Given the description of an element on the screen output the (x, y) to click on. 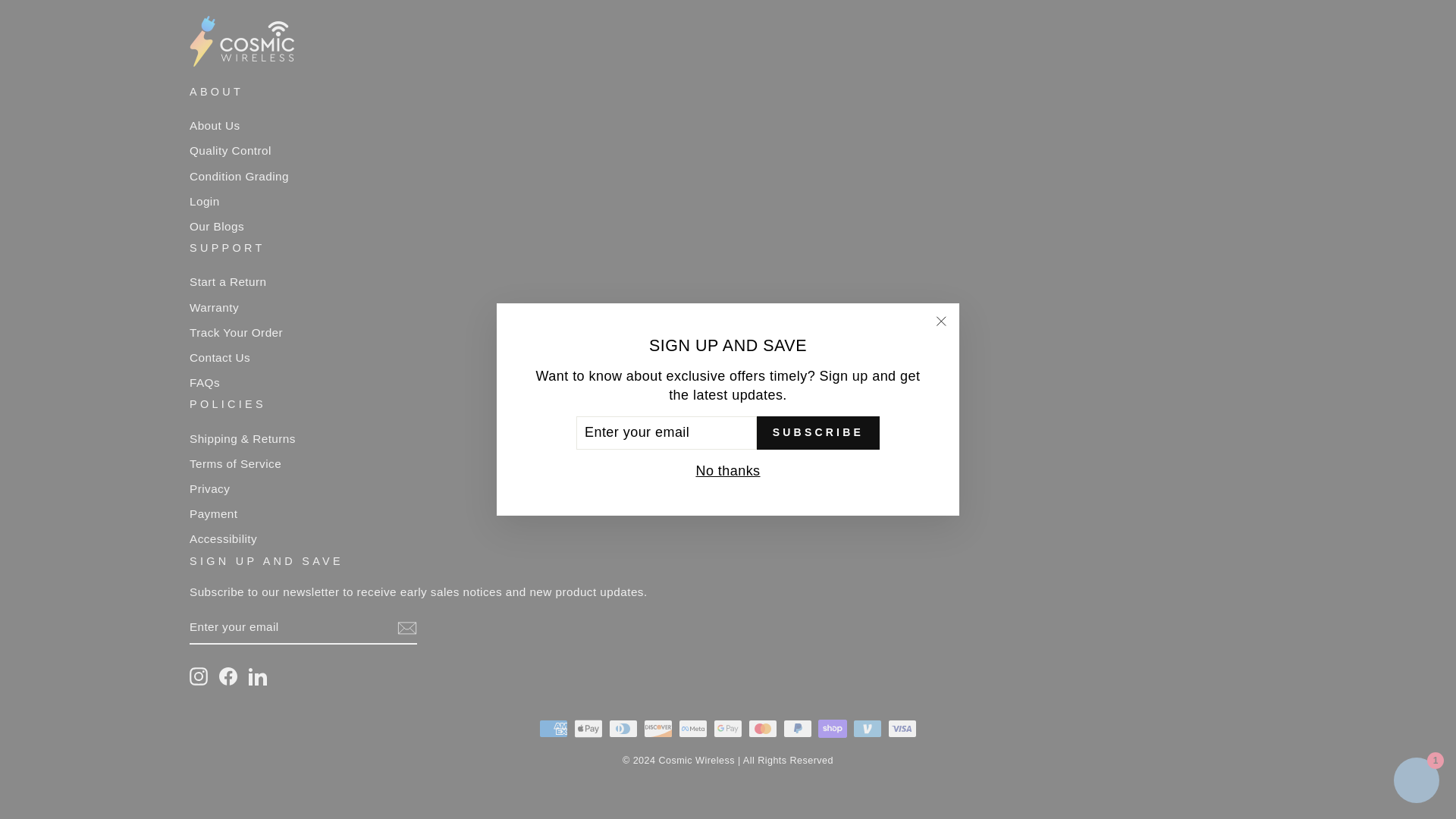
Meta Pay (692, 728)
Visa (902, 728)
Apple Pay (587, 728)
Google Pay (727, 728)
Shop Pay (832, 728)
Diners Club (622, 728)
American Express (552, 728)
Mastercard (762, 728)
Venmo (867, 728)
PayPal (797, 728)
Discover (657, 728)
